Given the description of an element on the screen output the (x, y) to click on. 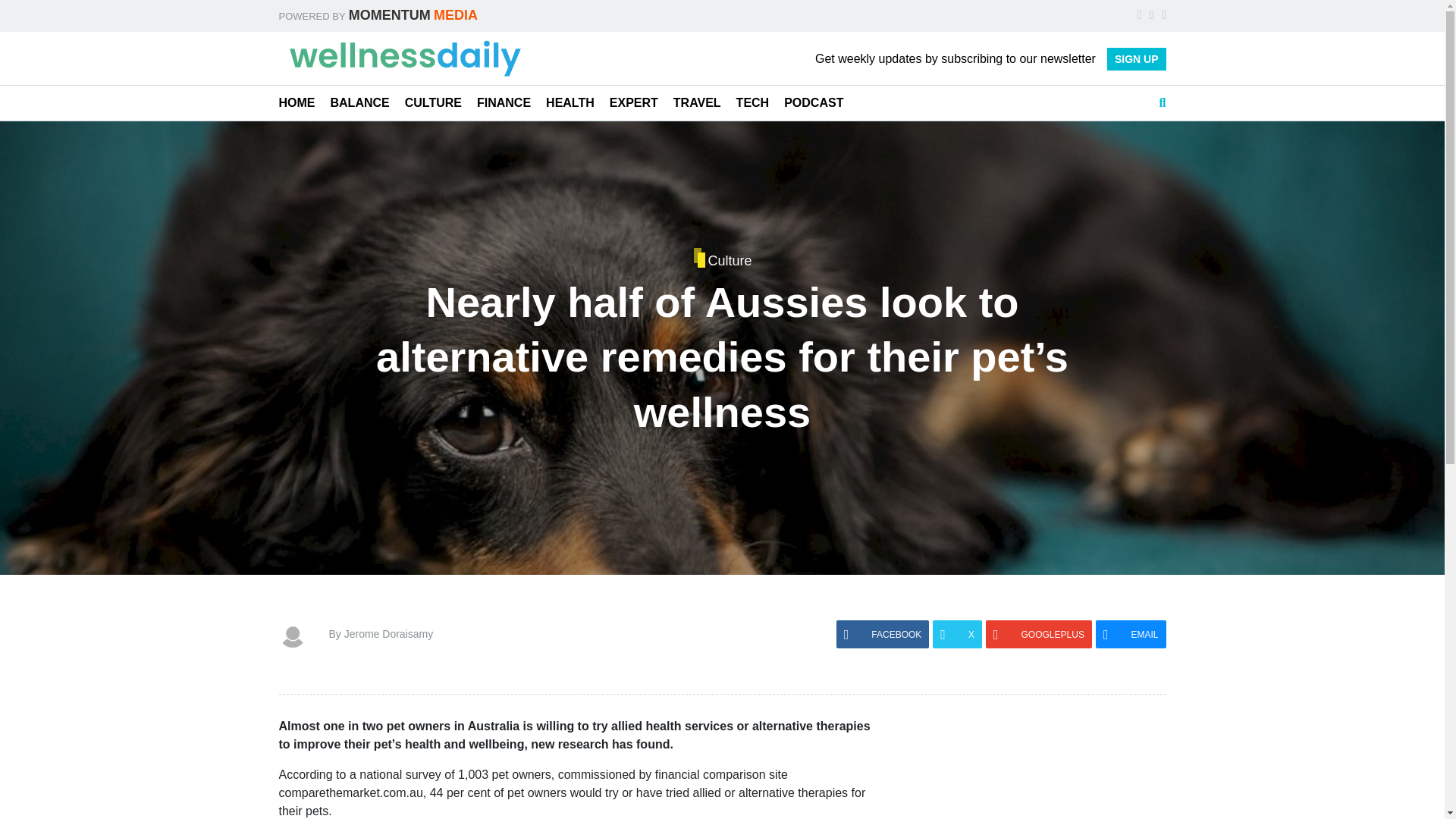
PODCAST (813, 102)
EMAIL (1131, 633)
POWERED BY MOMENTUM MEDIA (378, 15)
HOME (297, 102)
HEALTH (570, 102)
BALANCE (360, 102)
CULTURE (432, 102)
TRAVEL (696, 102)
FINANCE (504, 102)
SIGN UP (1136, 58)
TECH (753, 102)
GOOGLEPLUS (1038, 633)
X (957, 633)
FACEBOOK (882, 633)
EXPERT (634, 102)
